Given the description of an element on the screen output the (x, y) to click on. 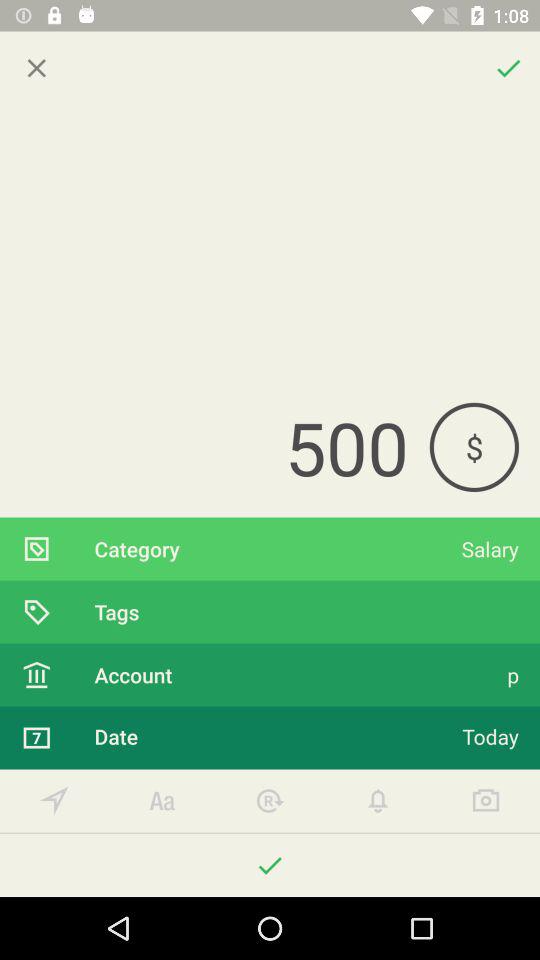
choose icon above 500 item (36, 68)
